Given the description of an element on the screen output the (x, y) to click on. 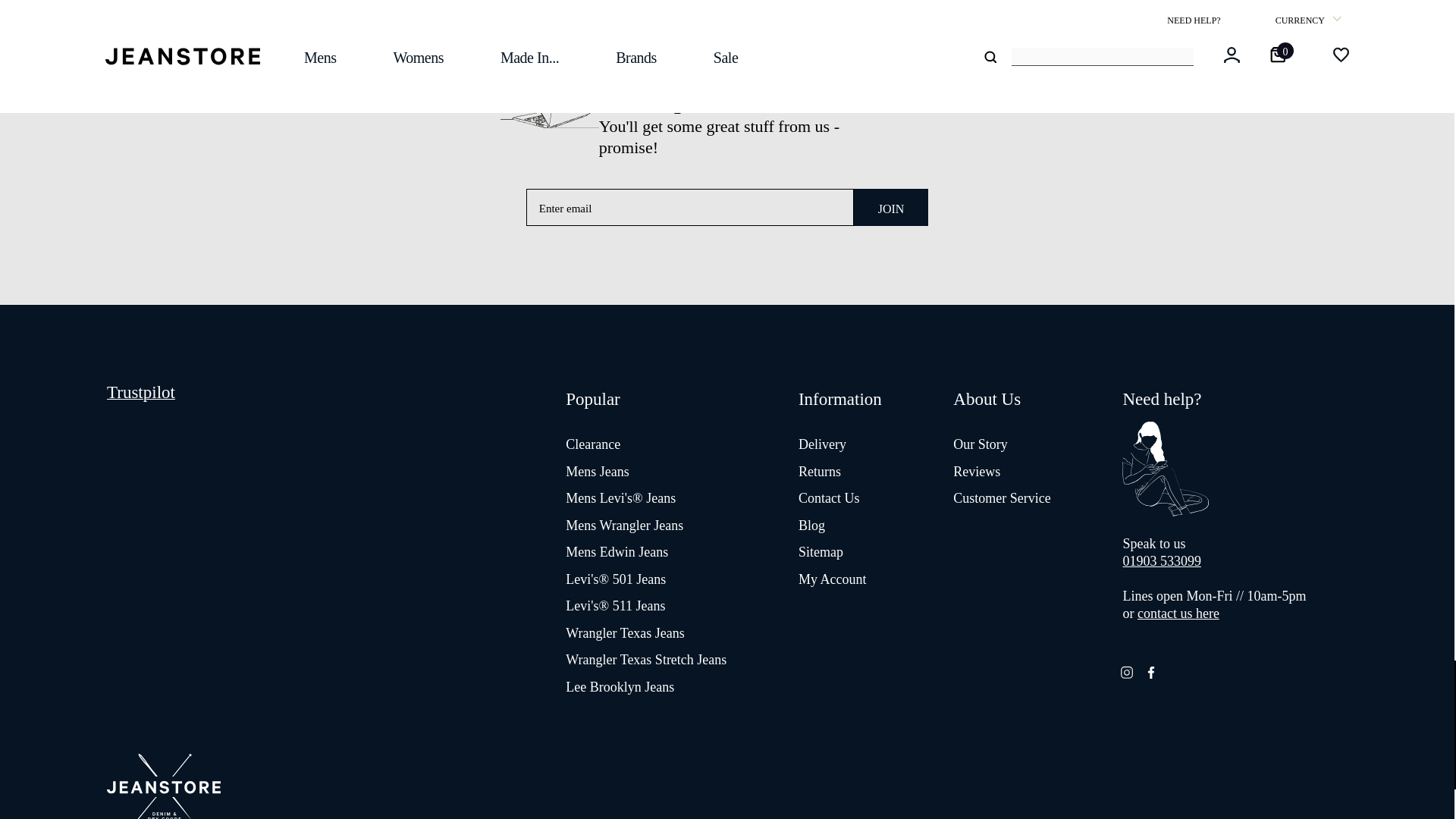
Contact Us (1178, 613)
Call us (1161, 560)
